Given the description of an element on the screen output the (x, y) to click on. 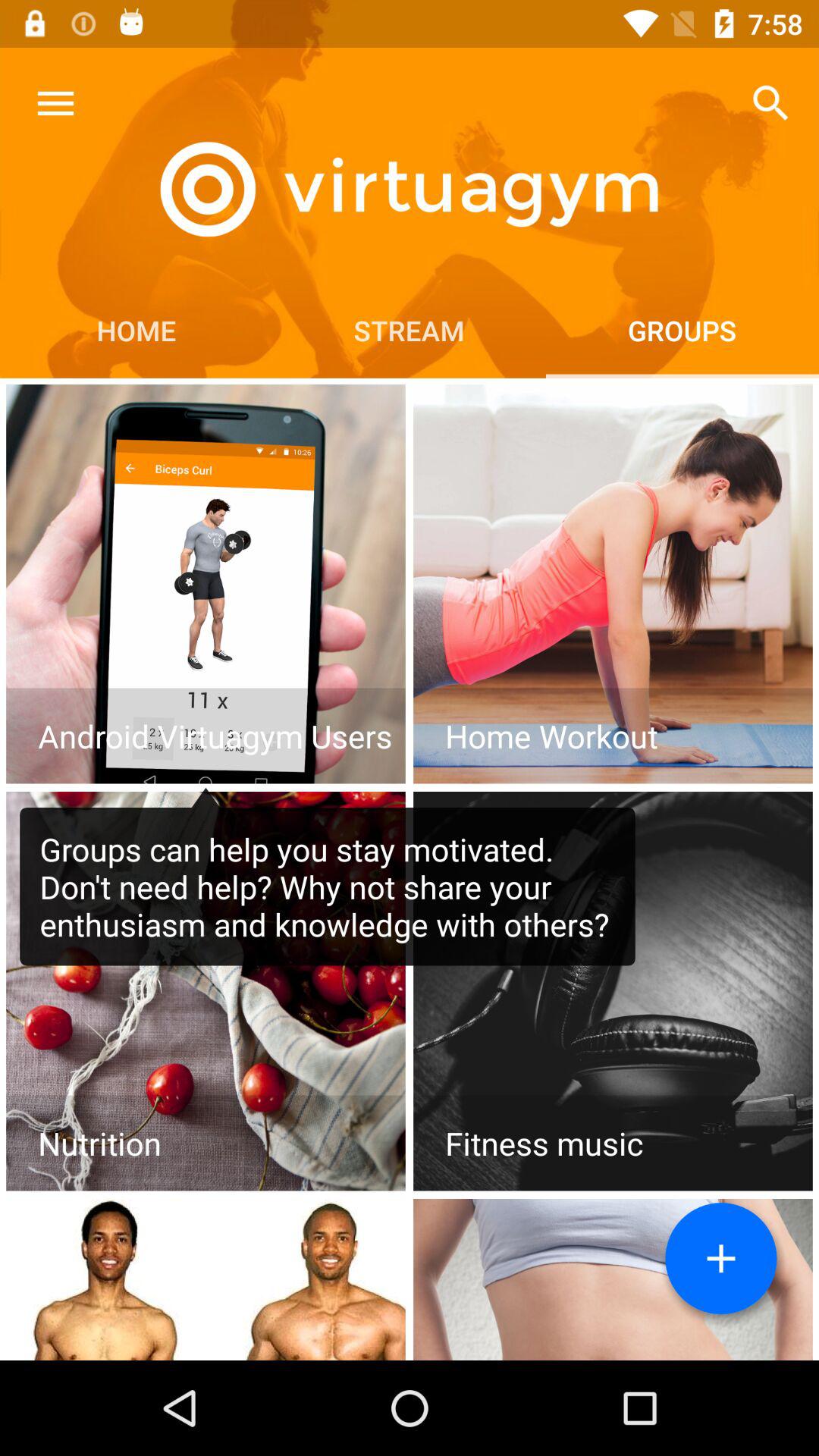
go to nutrition (205, 990)
